Given the description of an element on the screen output the (x, y) to click on. 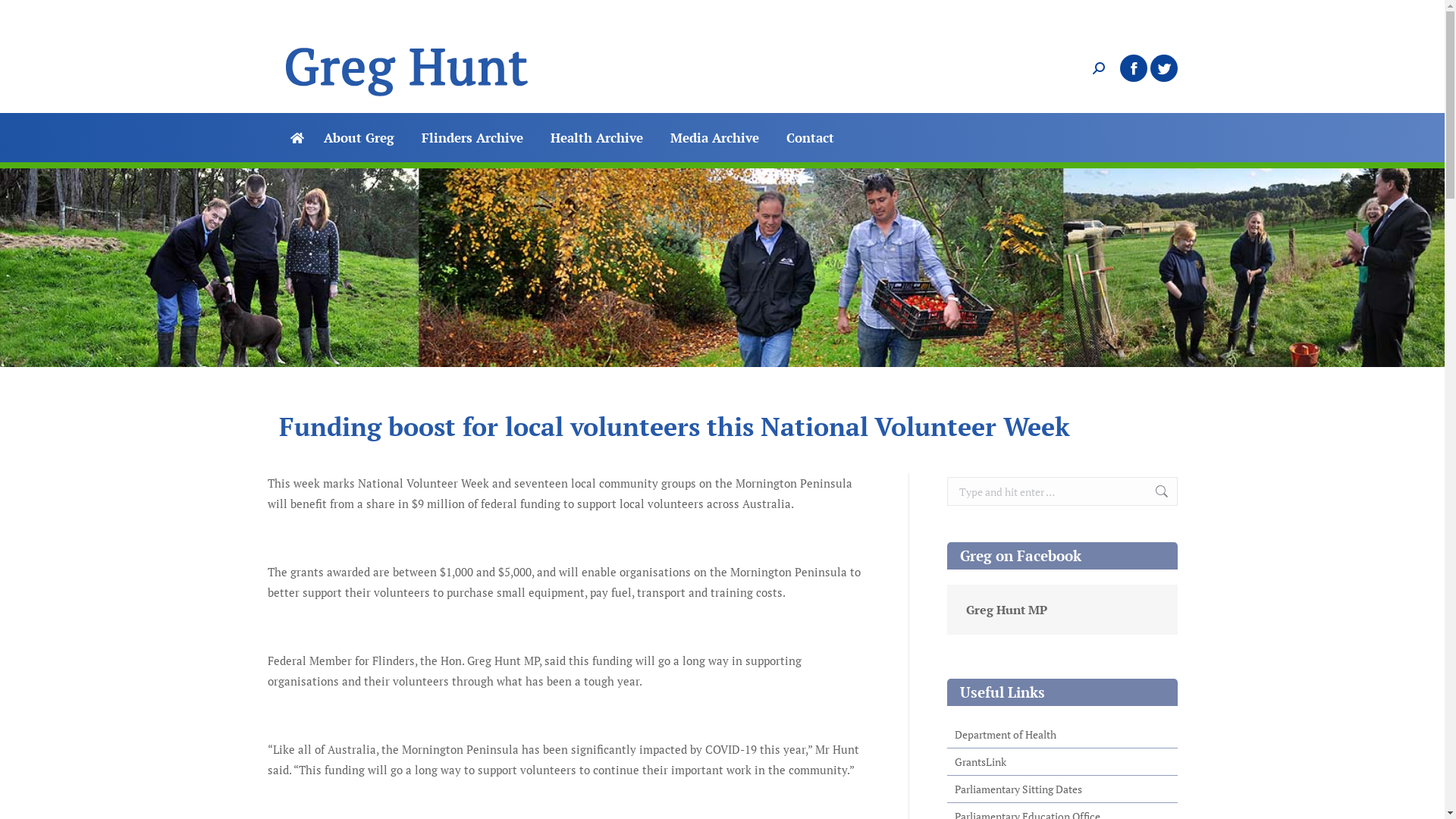
Facebook page opens in new window Element type: text (1132, 67)
Parliamentary Sitting Dates Element type: text (1061, 789)
Go! Element type: text (23, 16)
Flinders Archive Element type: text (472, 137)
GrantsLink Element type: text (1061, 761)
Twitter page opens in new window Element type: text (1162, 67)
Go! Element type: text (1154, 490)
Health Archive Element type: text (596, 137)
About Greg Element type: text (358, 137)
Department of Health Element type: text (1061, 734)
Contact Element type: text (809, 137)
Media Archive Element type: text (714, 137)
Greg Hunt MP Element type: text (1006, 609)
